Given the description of an element on the screen output the (x, y) to click on. 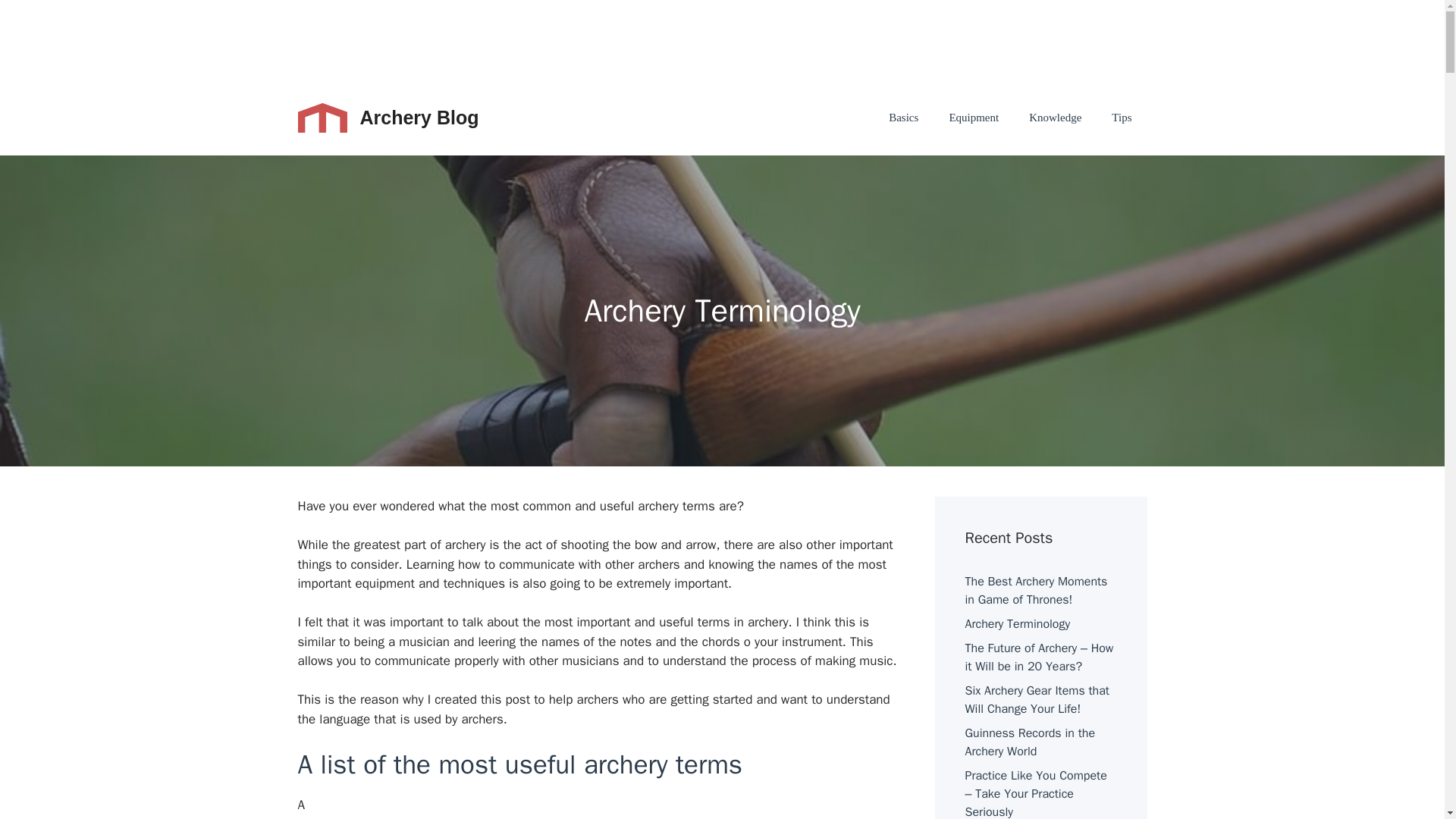
Basics (903, 117)
Guinness Records in the Archery World (1028, 742)
Tips (1121, 117)
Equipment (973, 117)
The Best Archery Moments in Game of Thrones! (1034, 590)
Six Archery Gear Items that Will Change Your Life! (1035, 699)
Archery Blog (419, 117)
Archery Terminology (1016, 623)
Knowledge (1054, 117)
